Given the description of an element on the screen output the (x, y) to click on. 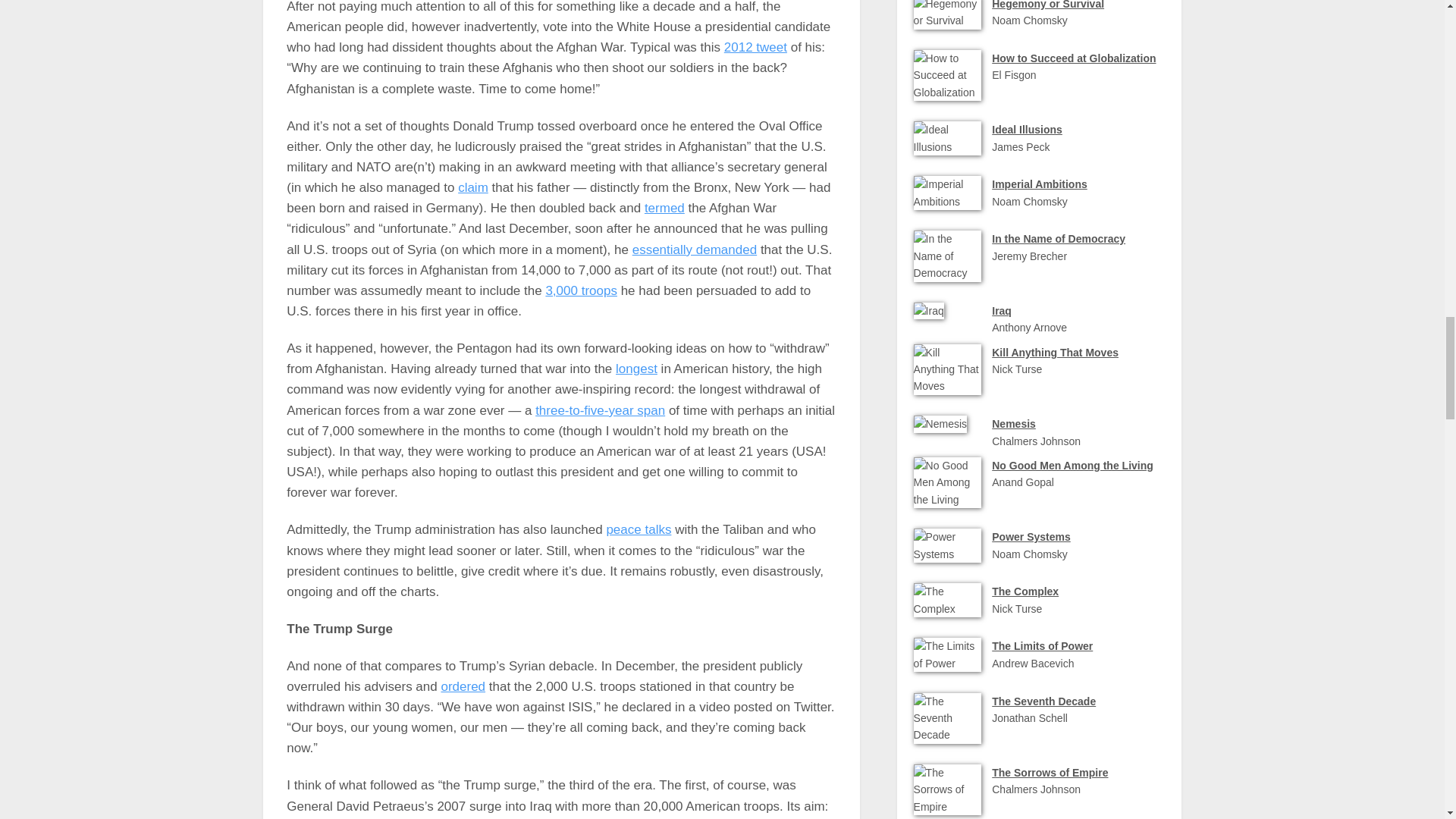
essentially demanded (694, 249)
termed (664, 207)
claim (472, 187)
2012 tweet (755, 47)
3,000 troops (580, 290)
